Given the description of an element on the screen output the (x, y) to click on. 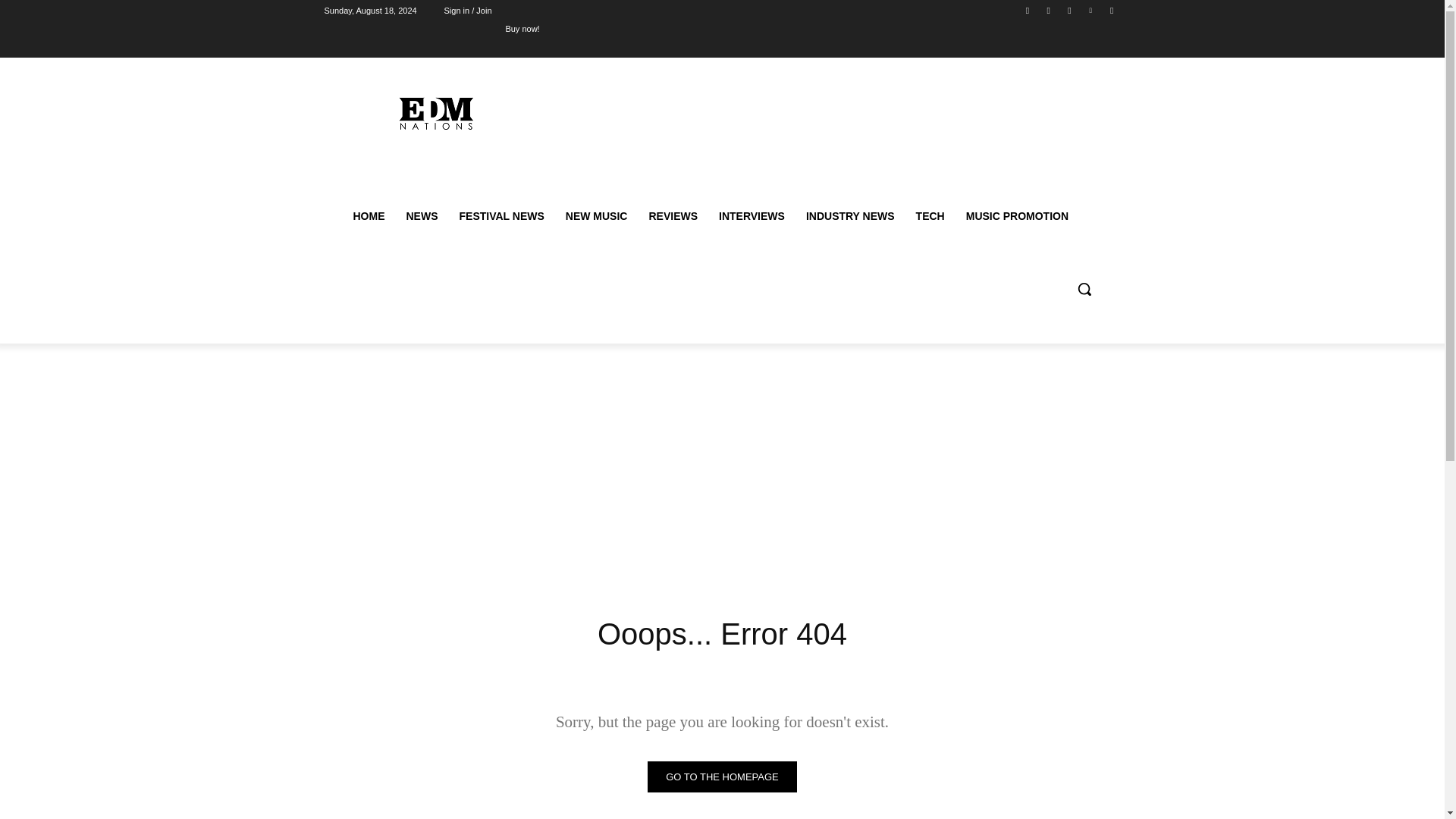
TECH (930, 216)
Twitter (1069, 9)
NEWS (422, 216)
HOME (369, 216)
INTERVIEWS (750, 216)
Go to the homepage (721, 776)
REVIEWS (672, 216)
Youtube (1112, 9)
Buy now! (521, 28)
